Given the description of an element on the screen output the (x, y) to click on. 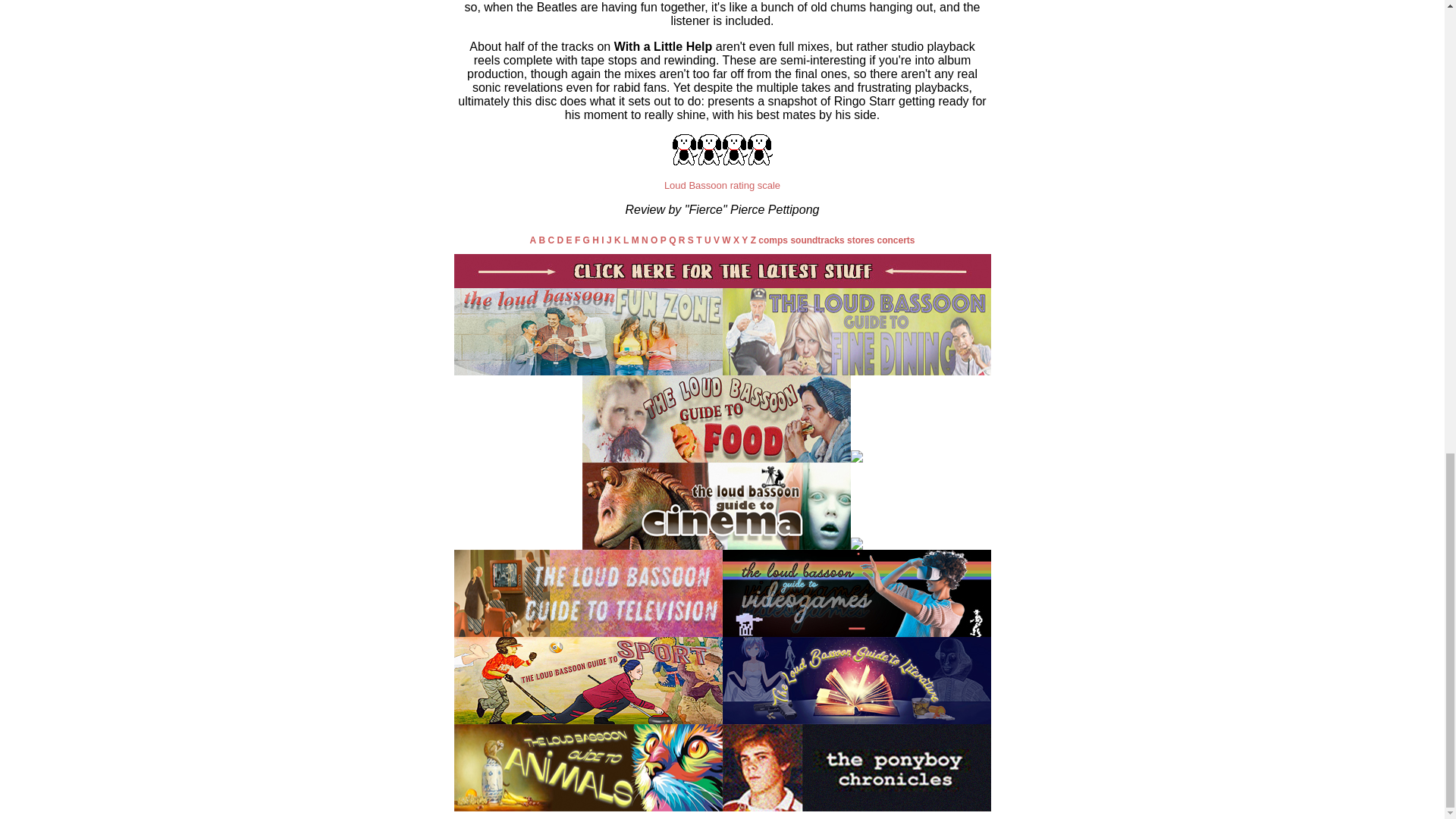
soundtracks (817, 240)
Loud Bassoon rating scale (721, 184)
concerts (895, 240)
comps (772, 240)
stores (861, 240)
